Given the description of an element on the screen output the (x, y) to click on. 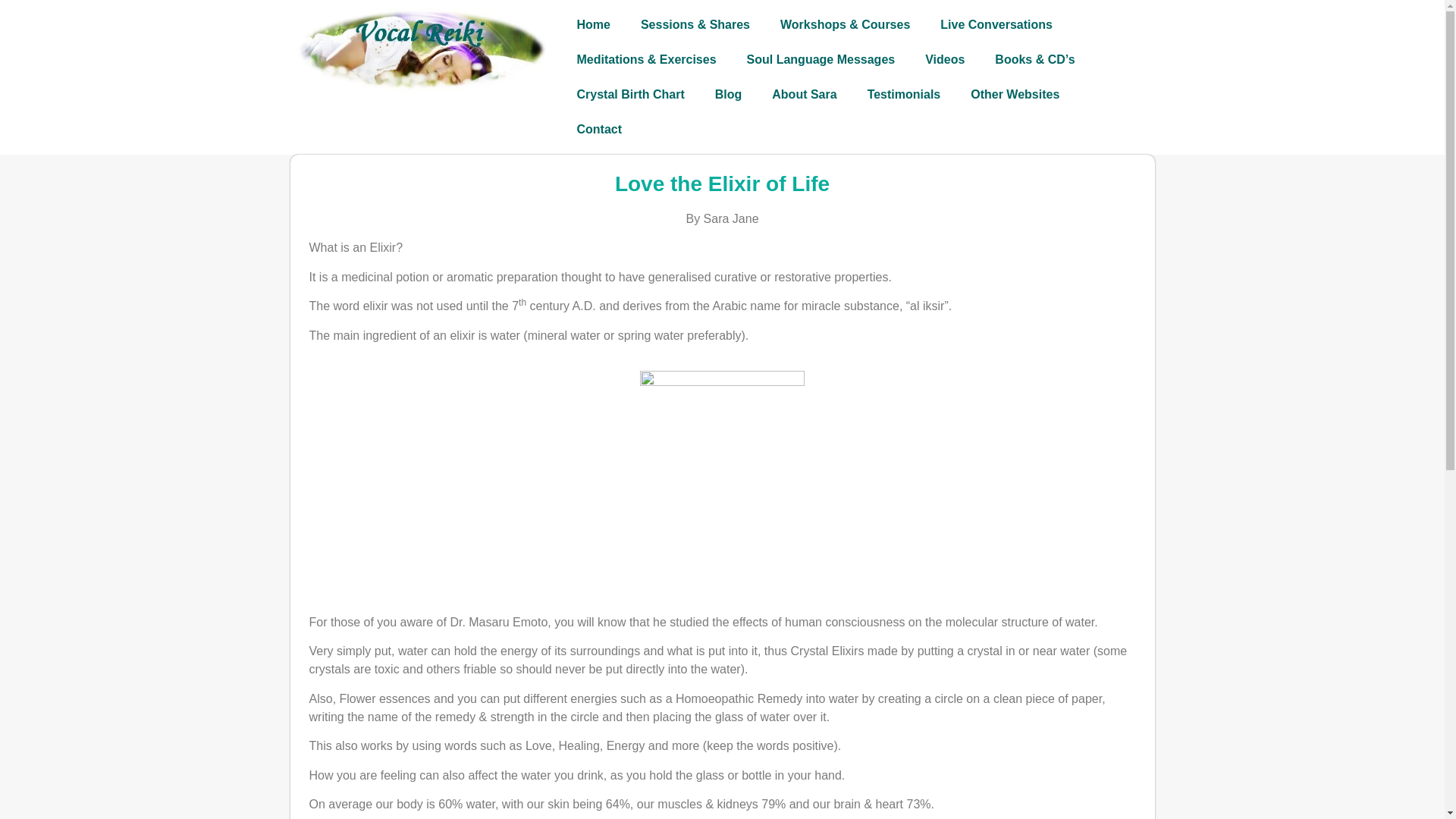
Testimonials (903, 94)
Blog (728, 94)
Home (592, 24)
About Sara (804, 94)
Crystal Birth Chart (629, 94)
Live Conversations (995, 24)
Videos (944, 59)
Contact (598, 129)
Soul Language Messages (821, 59)
Other Websites (1014, 94)
